Given the description of an element on the screen output the (x, y) to click on. 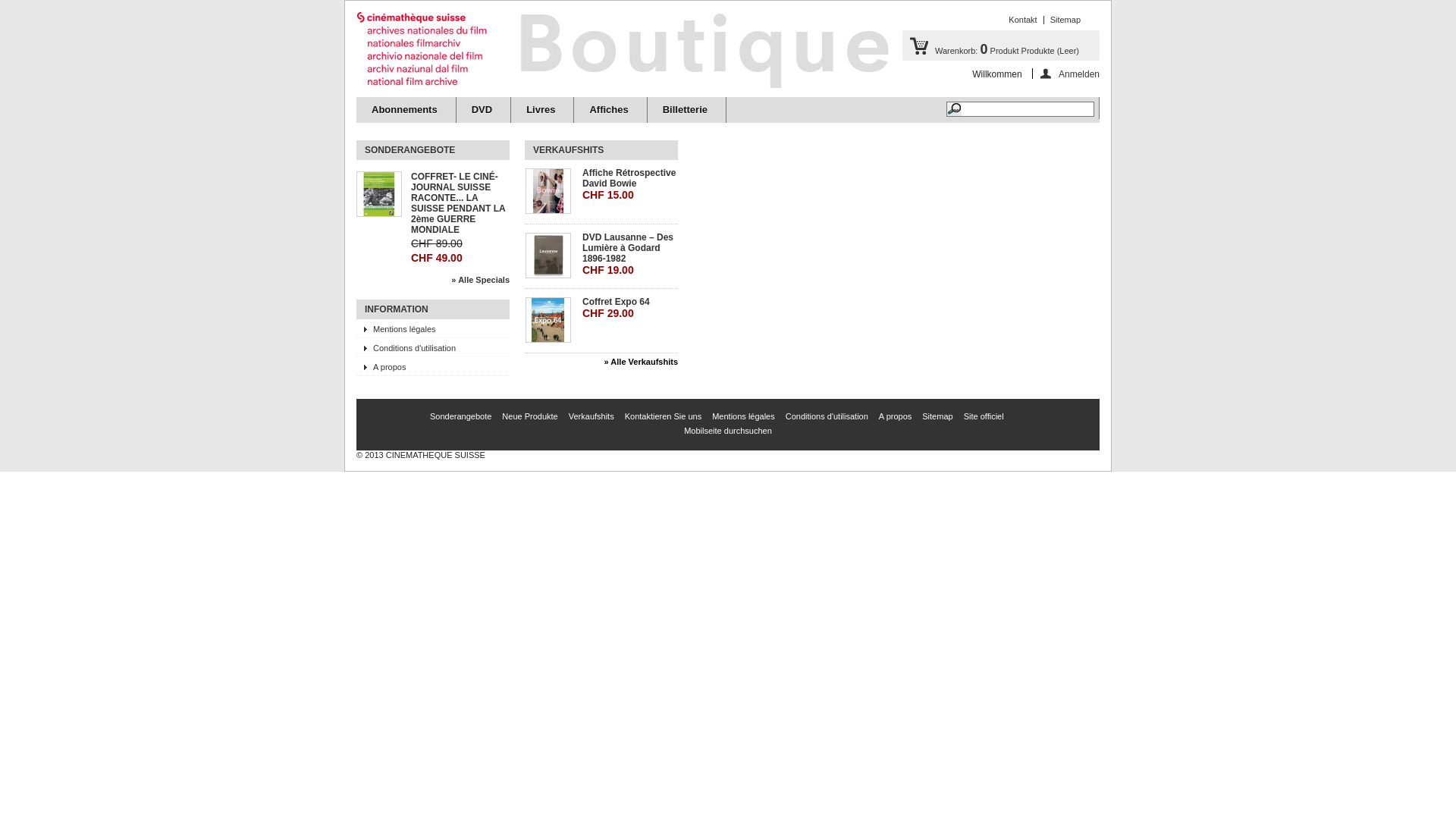
A propos Element type: text (894, 415)
VERKAUFSHITS Element type: text (568, 149)
Conditions d'utilisation Element type: text (432, 347)
Mobilseite durchsuchen Element type: text (727, 430)
Livres Element type: text (541, 109)
Site officiel Element type: text (983, 415)
Neue Produkte Element type: text (529, 415)
Anmelden Element type: text (1065, 73)
A propos Element type: text (432, 366)
Billetterie Element type: text (685, 109)
Sonderangebote Element type: text (460, 415)
INFORMATION Element type: text (396, 309)
Sitemap Element type: text (1065, 19)
Warenkorb: 0 Produkt Produkte (Leer) Element type: text (1000, 45)
Coffret Expo 64 Element type: hover (550, 320)
Sitemap Element type: text (937, 415)
Coffret Expo 64
CHF 29.00 Element type: text (629, 307)
DVD Element type: text (482, 109)
Abonnements Element type: text (405, 109)
Kontaktieren Sie uns Element type: text (663, 415)
SONDERANGEBOTE Element type: text (409, 149)
Affiches Element type: text (609, 109)
Verkaufshits Element type: text (591, 415)
Conditions d'utilisation Element type: text (826, 415)
Kontakt Element type: text (1022, 19)
